Given the description of an element on the screen output the (x, y) to click on. 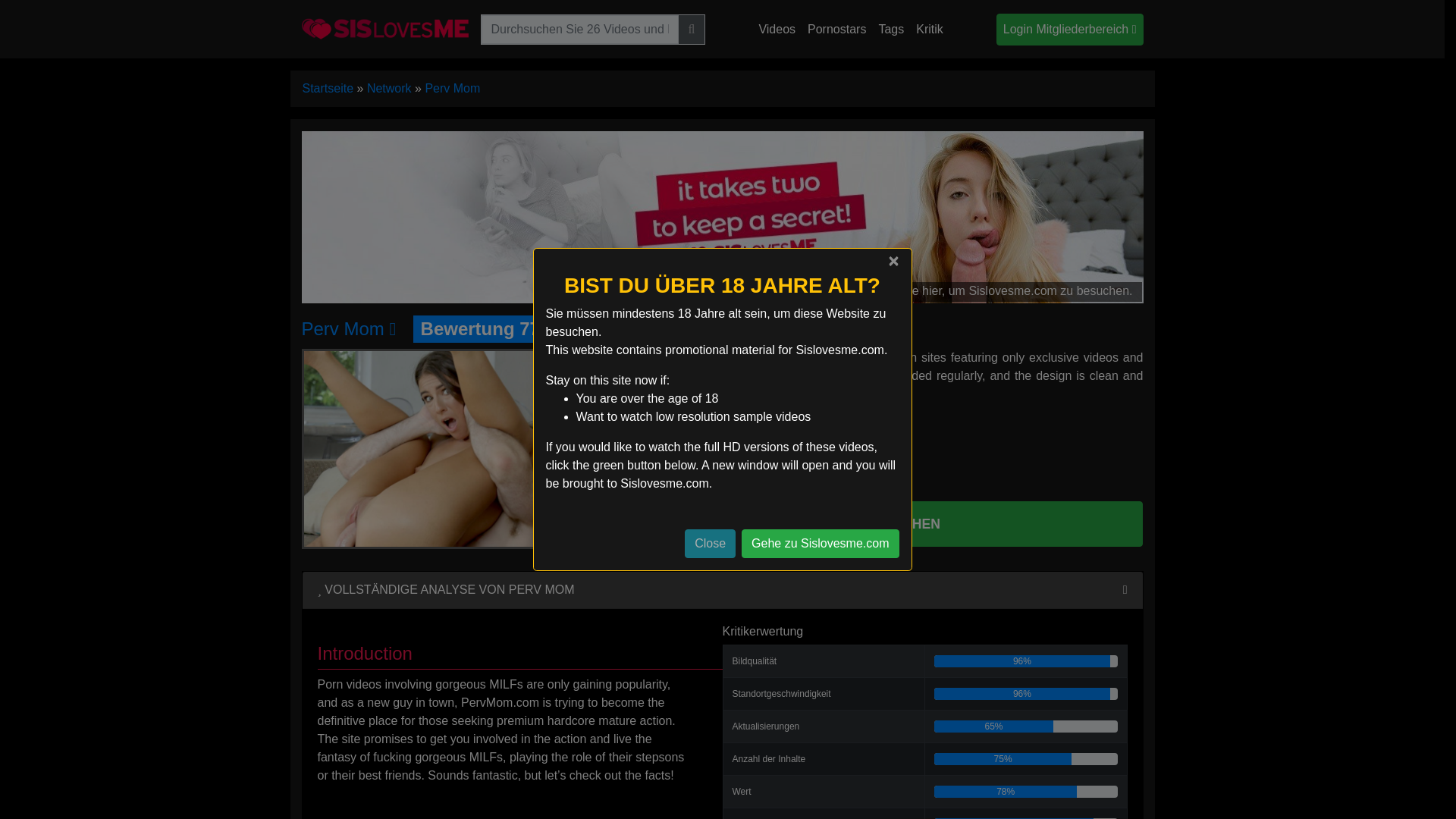
Besuchen Sie Perv Mom (348, 328)
Startseite (327, 88)
Videos (777, 29)
WEBSITE BESUCHEN (865, 524)
Unsere Bewertung von Sislovesme.com (929, 29)
Klicken Sie hier, um Sislovesme.com zu besuchen. (721, 215)
Kritik (929, 29)
Alle kostenlosen Sislovesme.com-Videos ansehen (777, 29)
Pornostars (837, 29)
Perv Mom (452, 88)
